Given the description of an element on the screen output the (x, y) to click on. 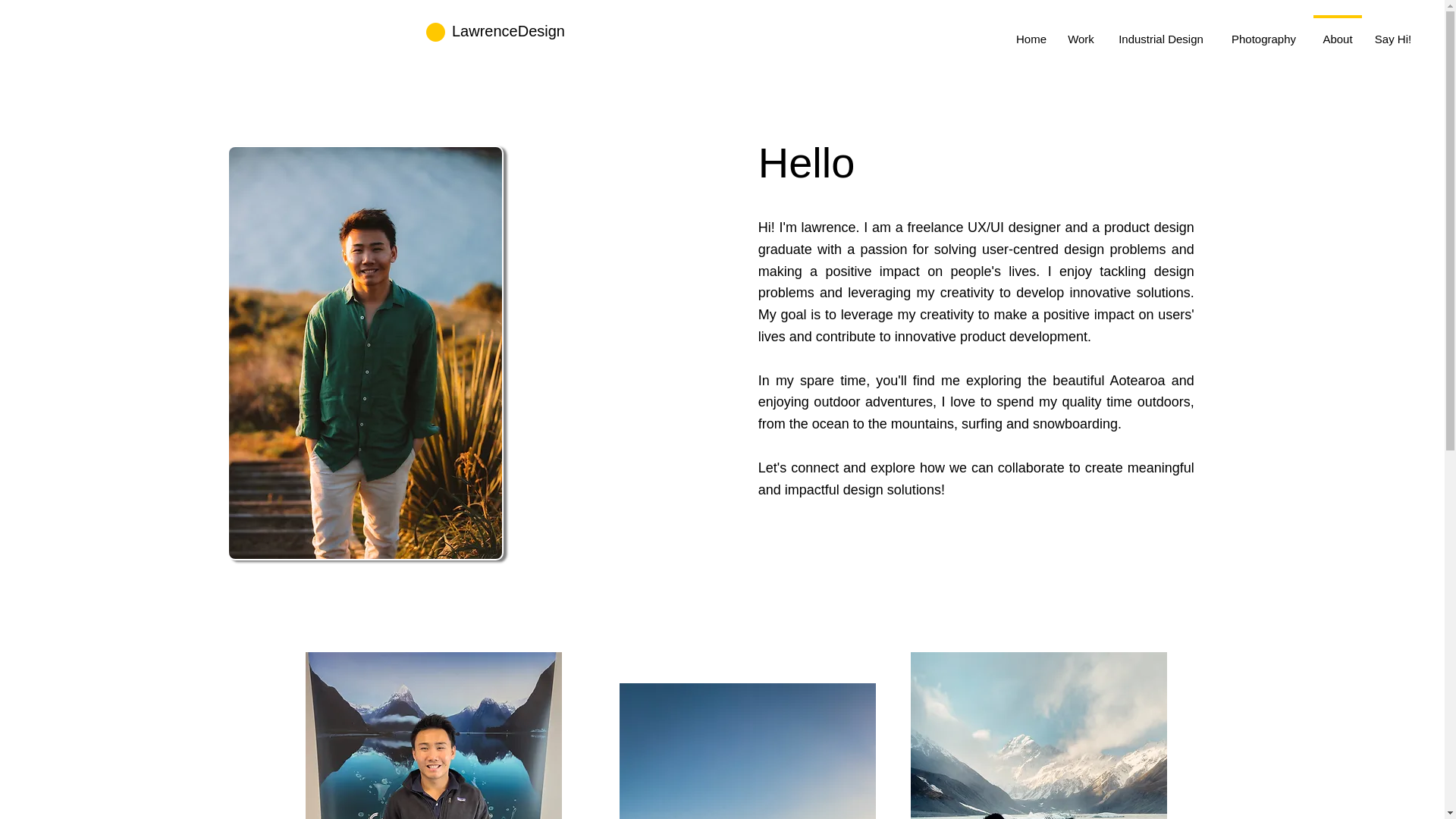
LawrenceDesign (507, 30)
Who is LawrenceDesign (432, 735)
Who is LawrenceDesign (746, 751)
Work (1081, 32)
Home (1031, 32)
Say Hi! (1393, 32)
Who is LawrenceDesign (1038, 735)
About (1337, 32)
Photography (1263, 32)
Industrial Design (1161, 32)
